Given the description of an element on the screen output the (x, y) to click on. 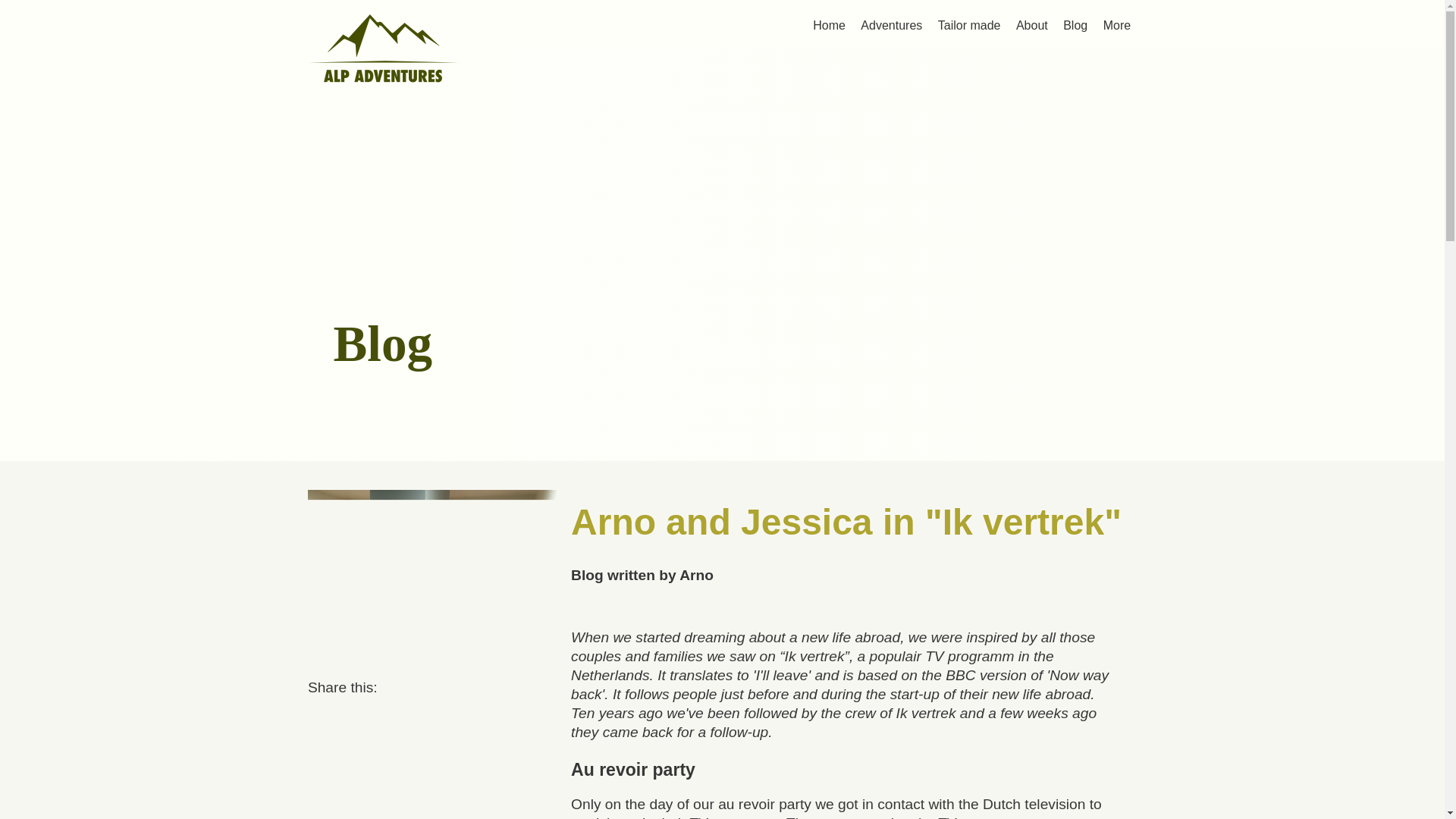
More (1117, 26)
Home (828, 26)
About (1032, 26)
Tailor made (969, 26)
Adventures (891, 26)
